Given the description of an element on the screen output the (x, y) to click on. 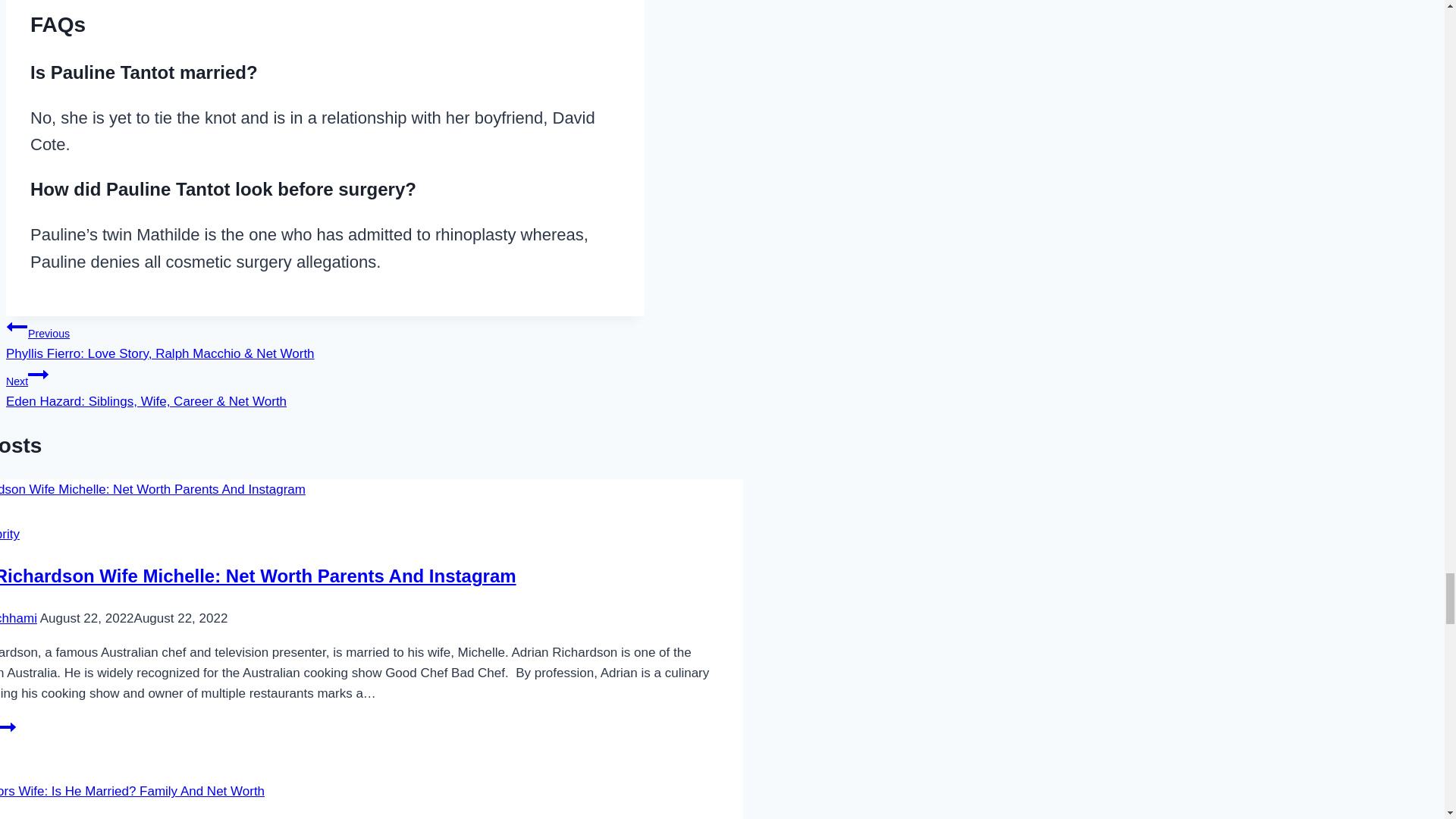
Continue (37, 373)
kushal Achhami (18, 617)
Celebrity (10, 534)
Previous (16, 326)
Jonathan Majors Wife: Is He Married? Family And Net Worth (132, 791)
